Given the description of an element on the screen output the (x, y) to click on. 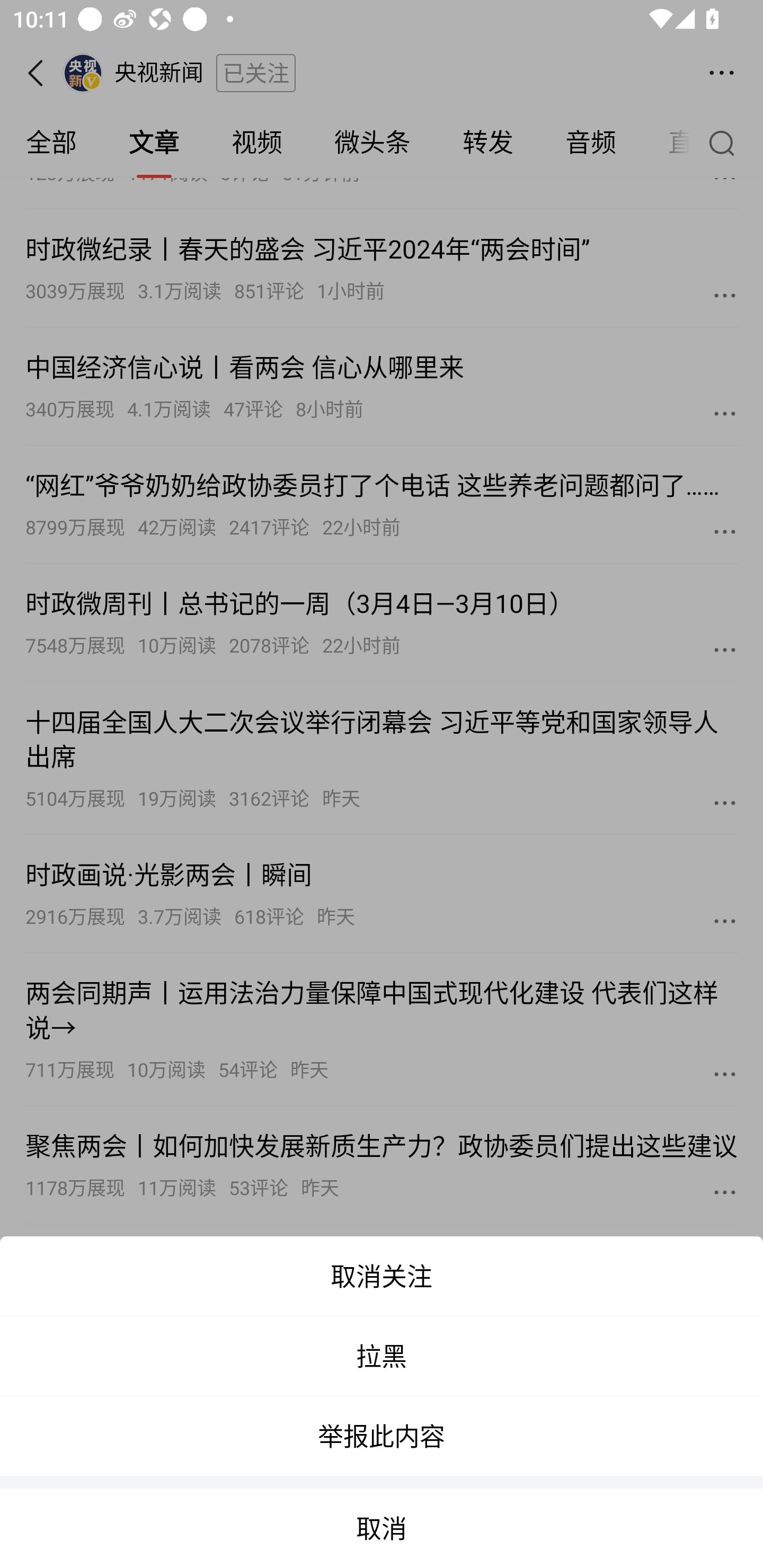
取消关注 (381, 1276)
拉黑 (381, 1356)
举报此内容 (381, 1436)
取消 (381, 1528)
